Given the description of an element on the screen output the (x, y) to click on. 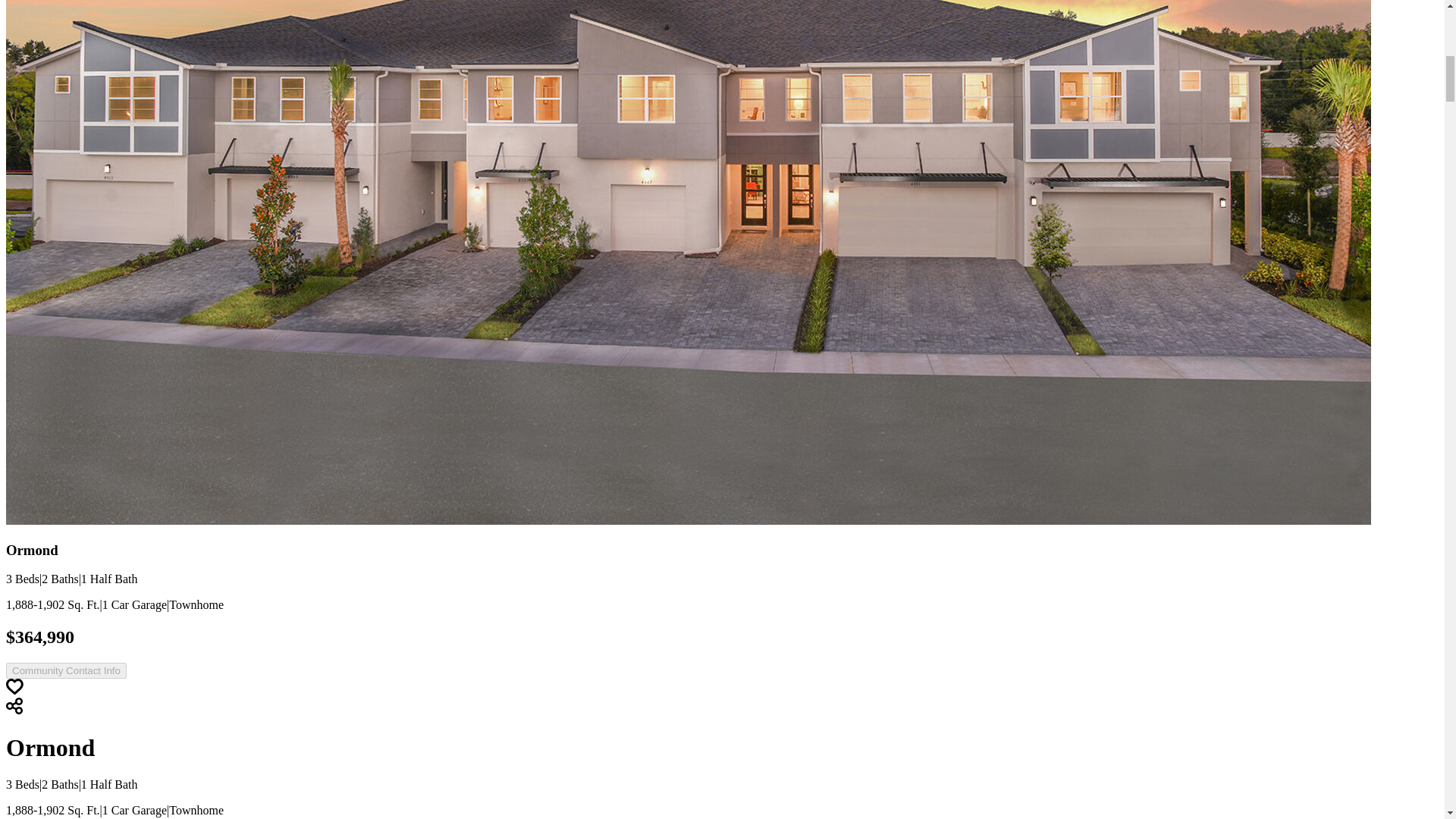
Favorite Icon (14, 686)
Share Icon (14, 705)
Community Contact Info (65, 670)
